Given the description of an element on the screen output the (x, y) to click on. 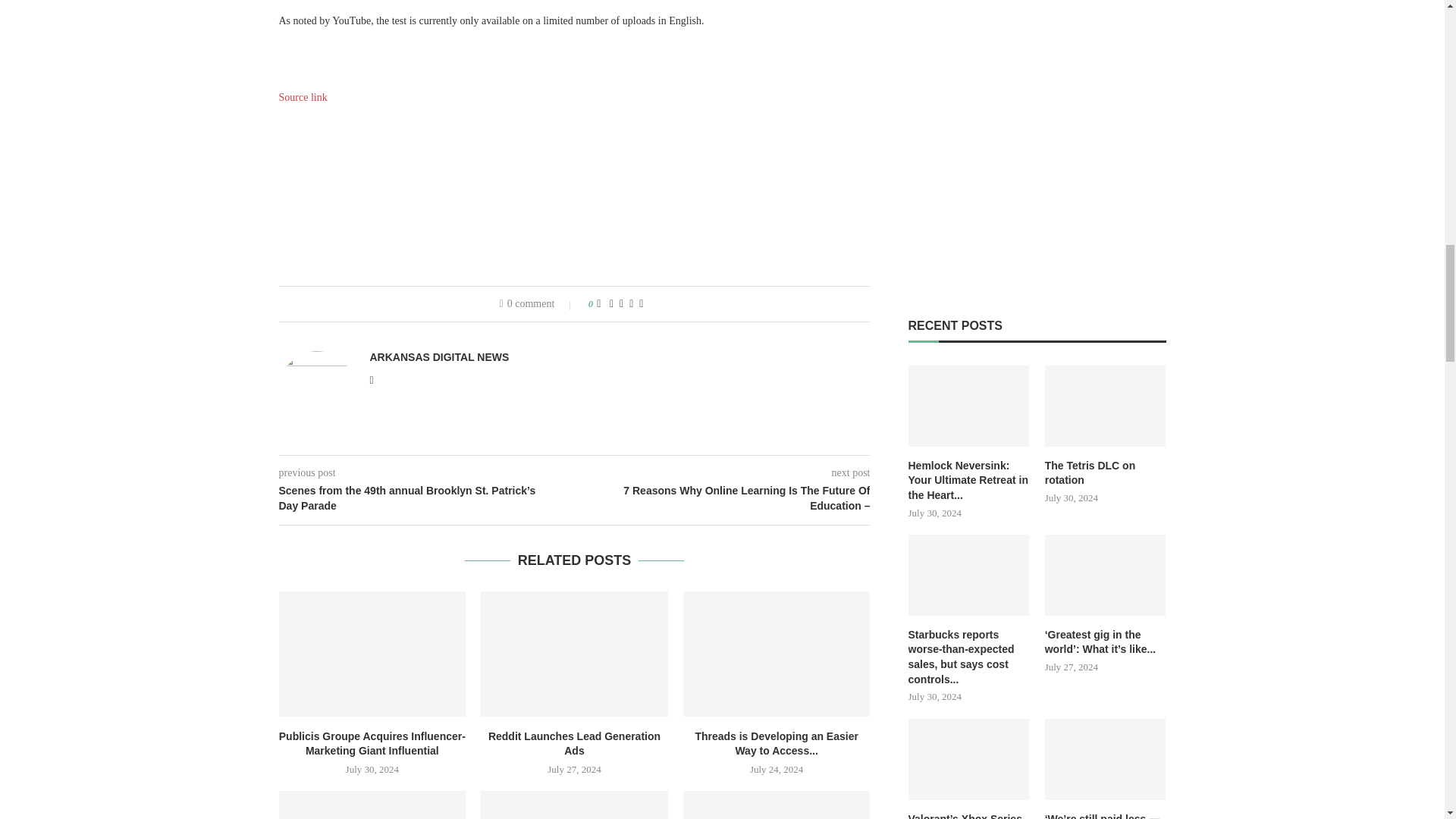
Snap Launches Snap Sports Network to Cover Niche Events (574, 805)
X Will Allow Users To Request a Community Note on Posts (372, 805)
The Tetris DLC on rotation (1105, 405)
Reddit Launches Lead Generation Ads (574, 653)
YouTube Tests Community Spaces to Drive Fan Engagement (776, 805)
